Given the description of an element on the screen output the (x, y) to click on. 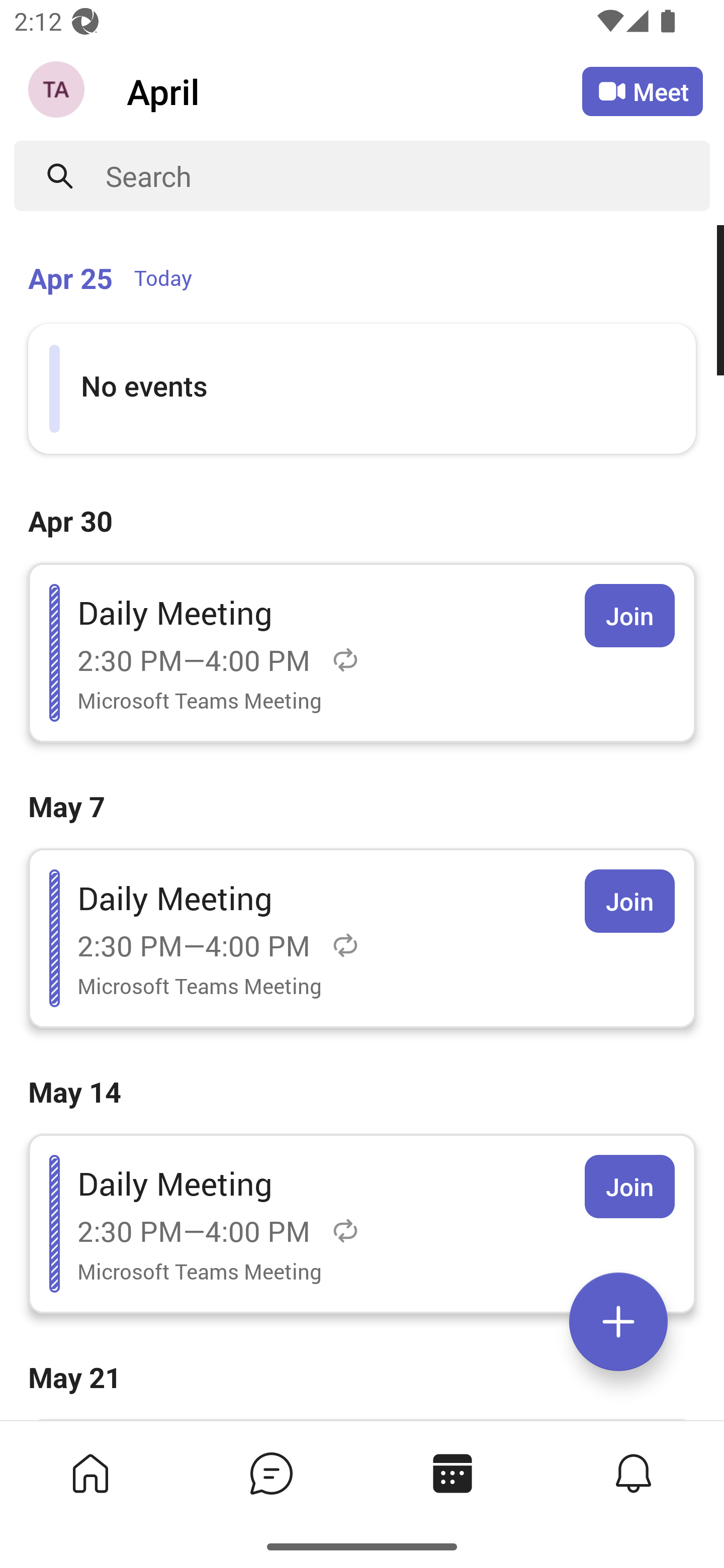
Navigation (58, 91)
Meet Meet now or join with an ID (642, 91)
April April Calendar Agenda View (354, 90)
Search (407, 176)
Join (629, 615)
Join (629, 900)
Join (629, 1186)
Expand meetings menu (618, 1321)
Home tab,1 of 4, not selected (90, 1472)
Chat tab,2 of 4, not selected (271, 1472)
Calendar tab, 3 of 4 (452, 1472)
Activity tab,4 of 4, not selected (633, 1472)
